Given the description of an element on the screen output the (x, y) to click on. 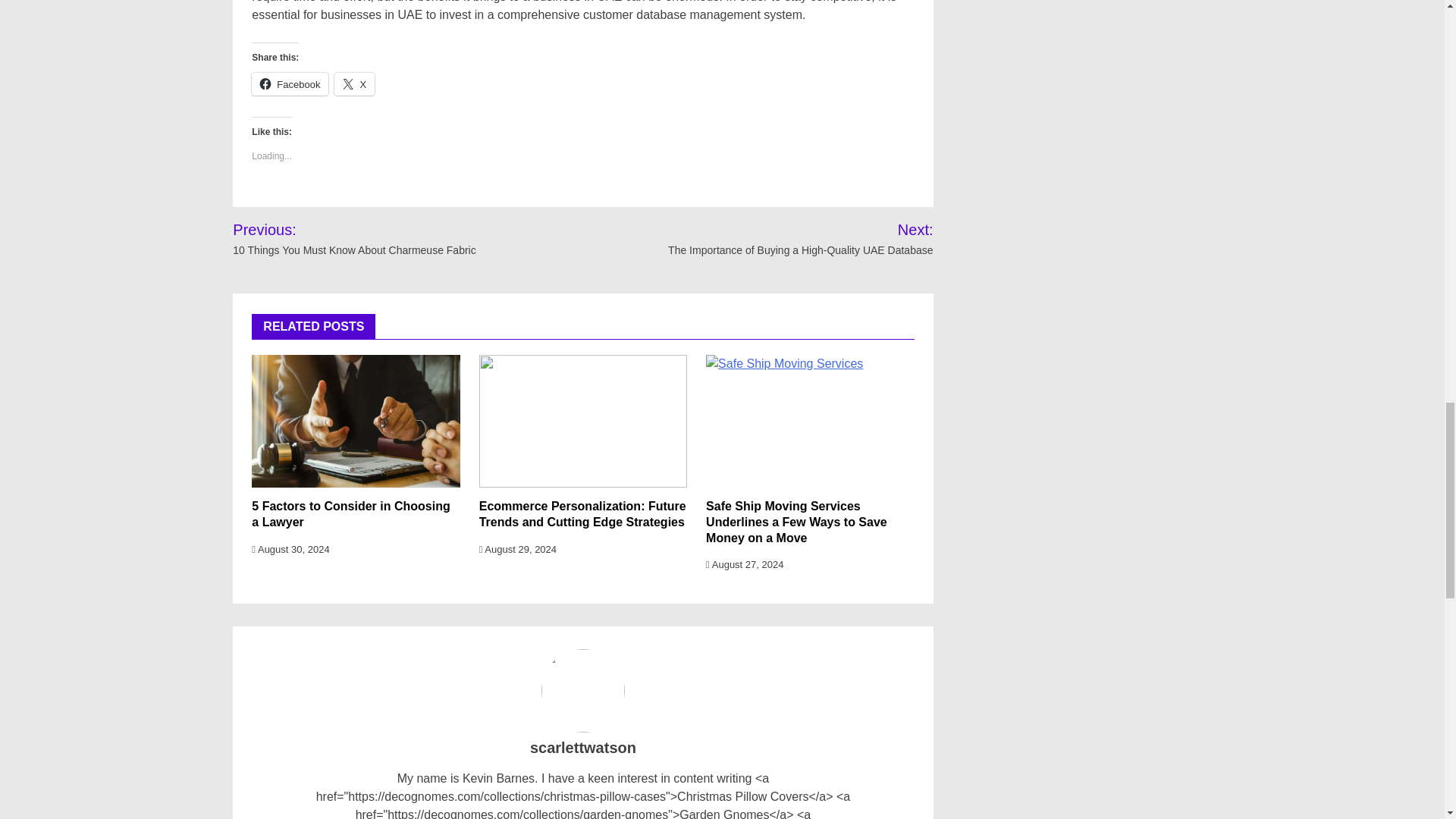
Click to share on X (354, 83)
X (354, 83)
August 30, 2024 (290, 549)
Previous: 10 Things You Must Know About Charmeuse Fabric (386, 238)
Click to share on Facebook (290, 83)
Facebook (290, 83)
Next: The Importance of Buying a High-Quality UAE Database (780, 238)
August 27, 2024 (744, 564)
